Given the description of an element on the screen output the (x, y) to click on. 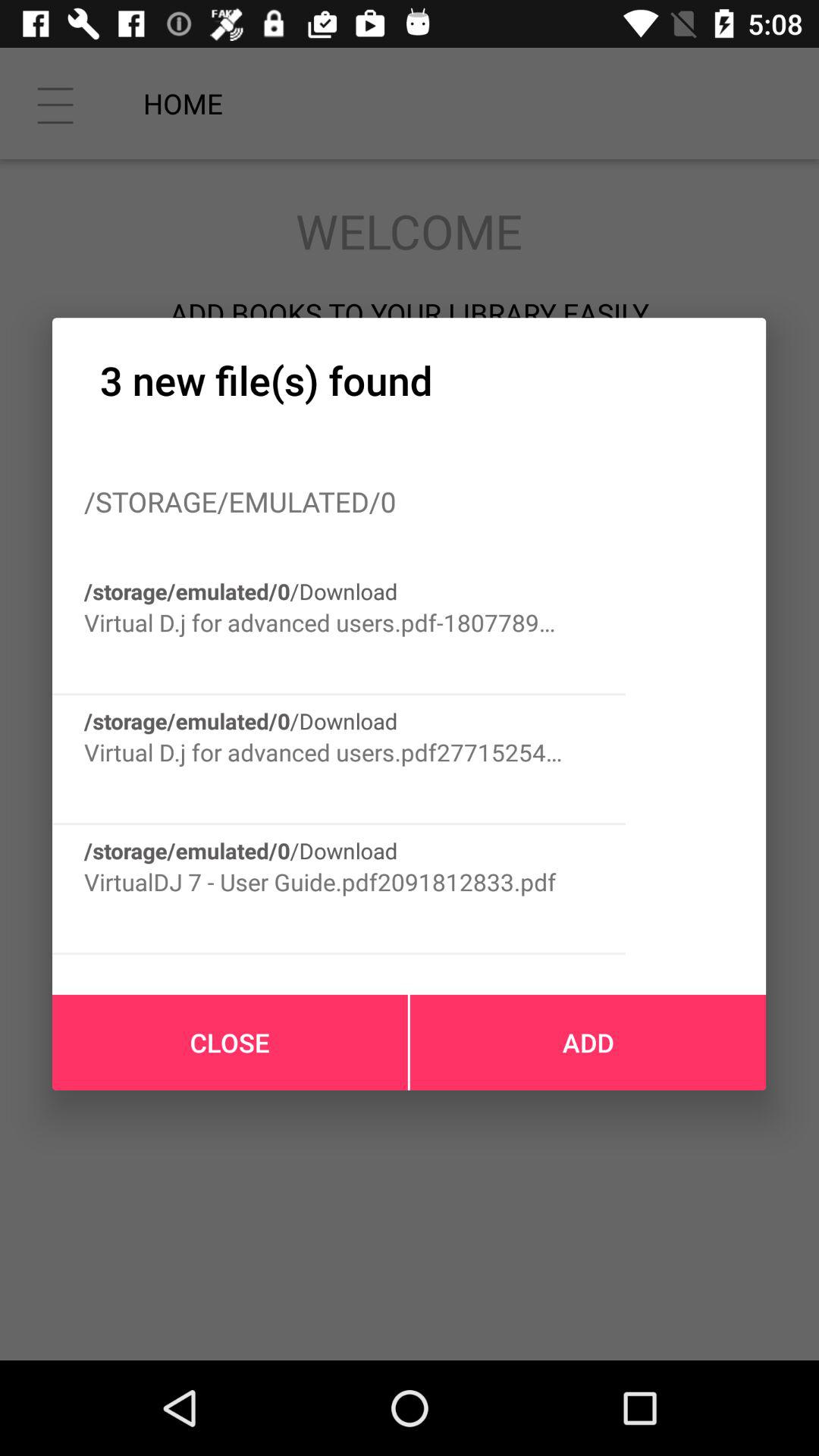
scroll to add (588, 1042)
